Given the description of an element on the screen output the (x, y) to click on. 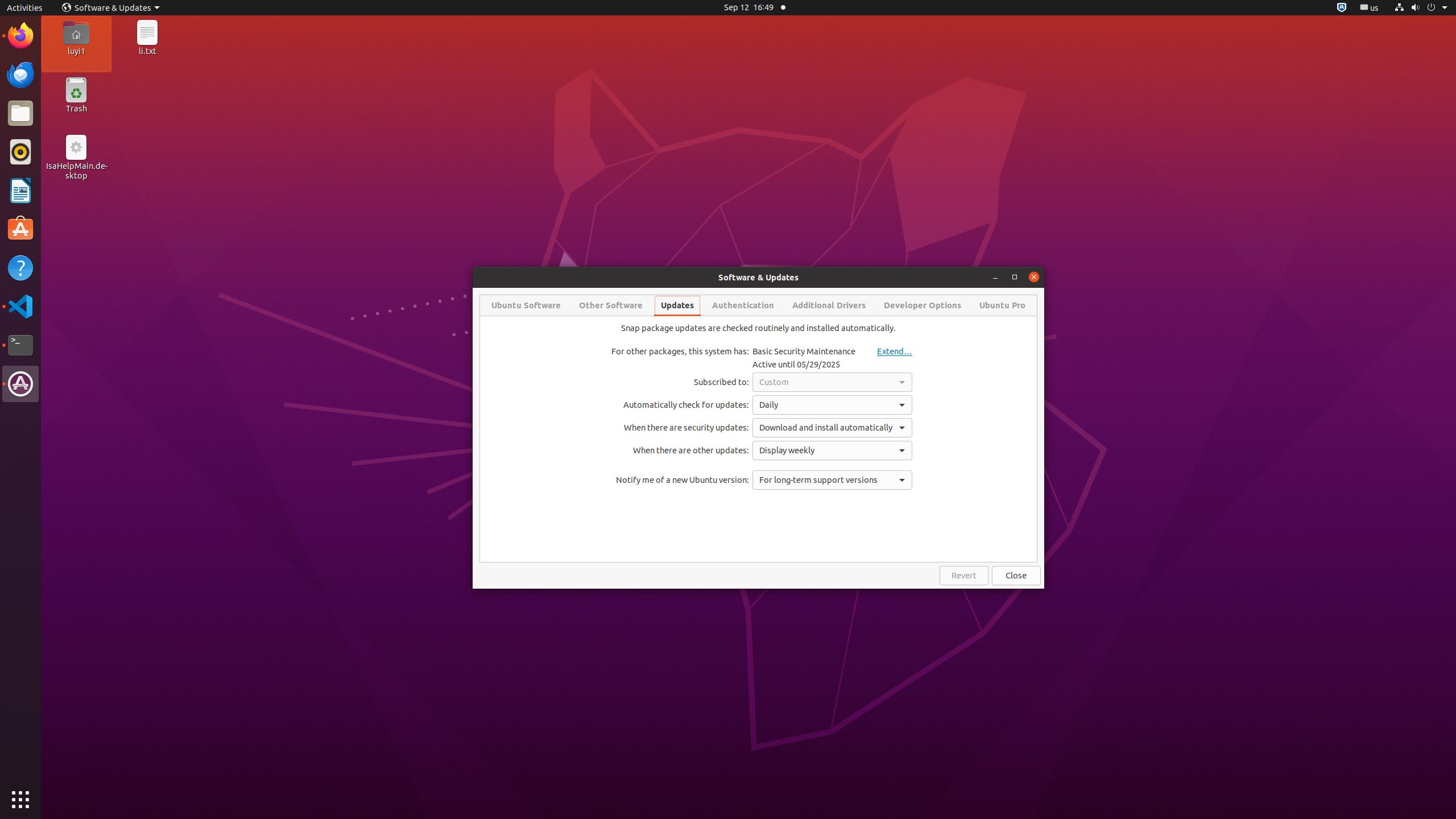
Notify me of a new Ubuntu version: Element type: label (680, 479)
Snap package updates are checked routinely and installed automatically. Element type: label (758, 327)
Revert Element type: push-button (963, 575)
